Given the description of an element on the screen output the (x, y) to click on. 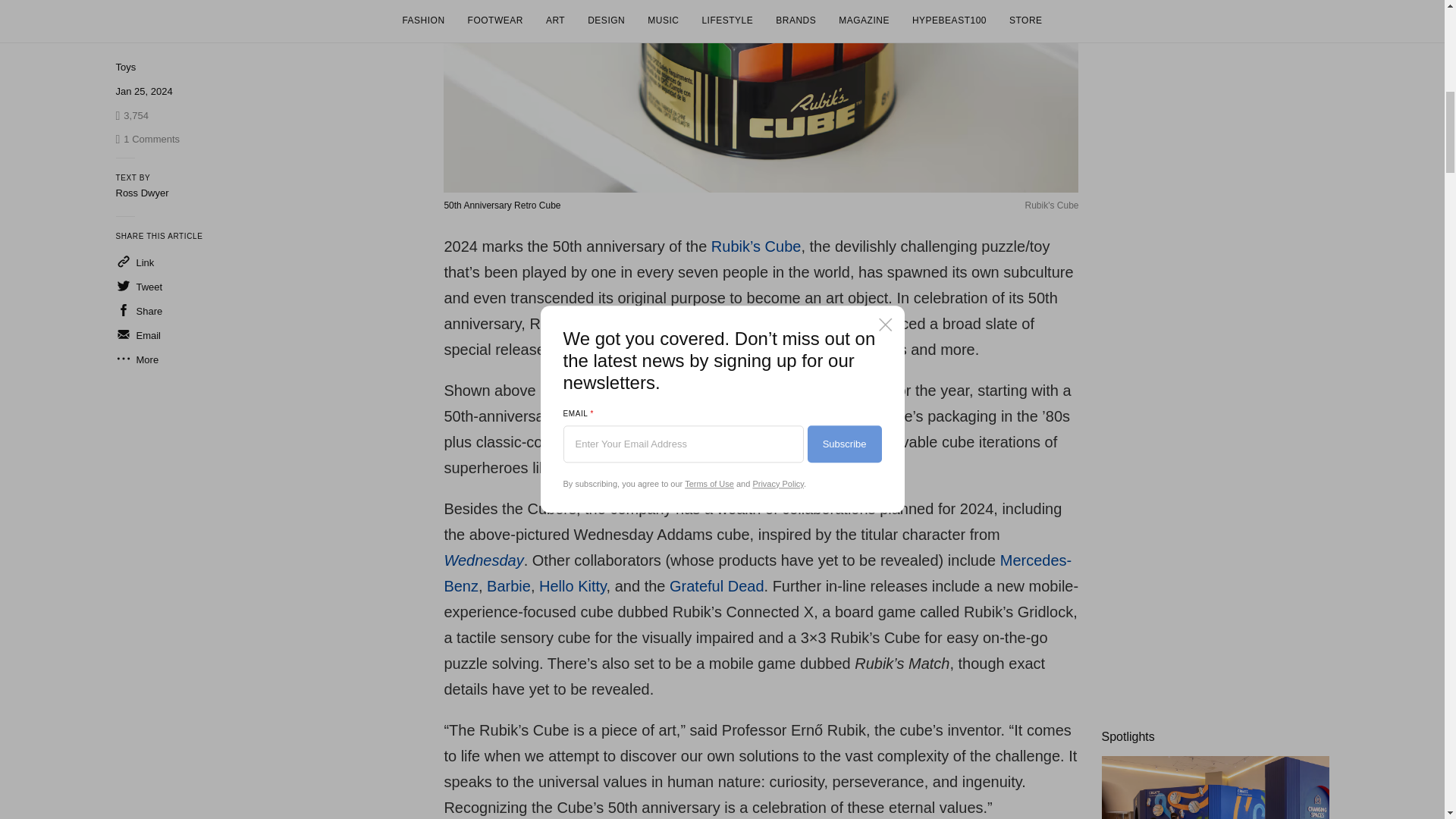
Spider-Man (793, 467)
3rd party ad content (1213, 112)
Iron Man (690, 467)
Black Panther (605, 467)
